Given the description of an element on the screen output the (x, y) to click on. 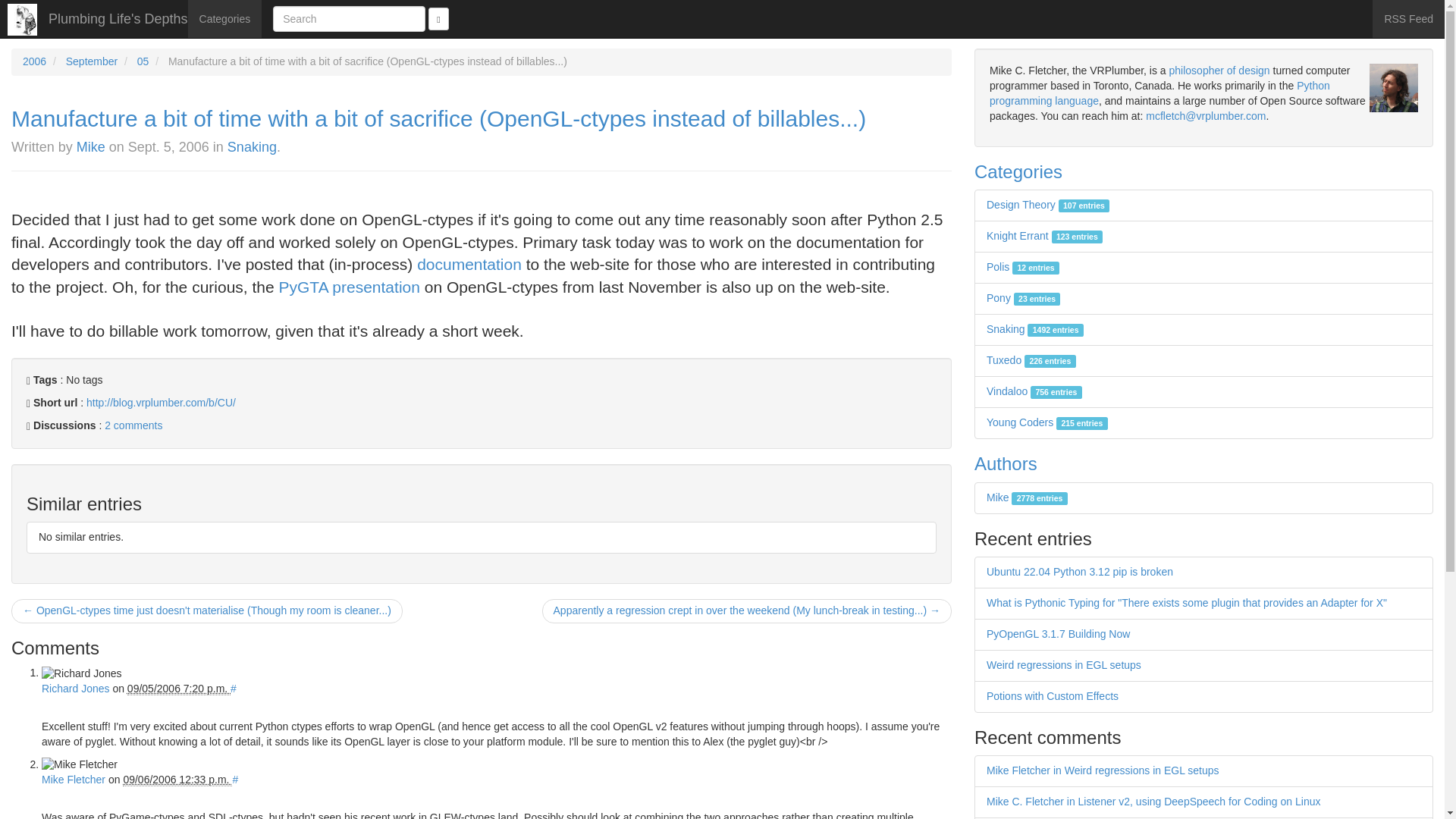
Mike 2778 entries (1027, 497)
Authors (1005, 463)
2 comments (132, 425)
Young Coders 215 entries (1047, 422)
Categories (1018, 171)
September (91, 61)
Vindaloo 756 entries (1034, 390)
Potions with Custom Effects (1052, 695)
Mike Fletcher (73, 779)
PyOpenGL 3.1.7 Building Now (1058, 633)
documentation (468, 263)
Plumbing Life's Depths (118, 18)
Richard Jones (76, 688)
Snaking (251, 146)
Ubuntu 22.04 Python 3.12 pip is broken (1080, 571)
